Given the description of an element on the screen output the (x, y) to click on. 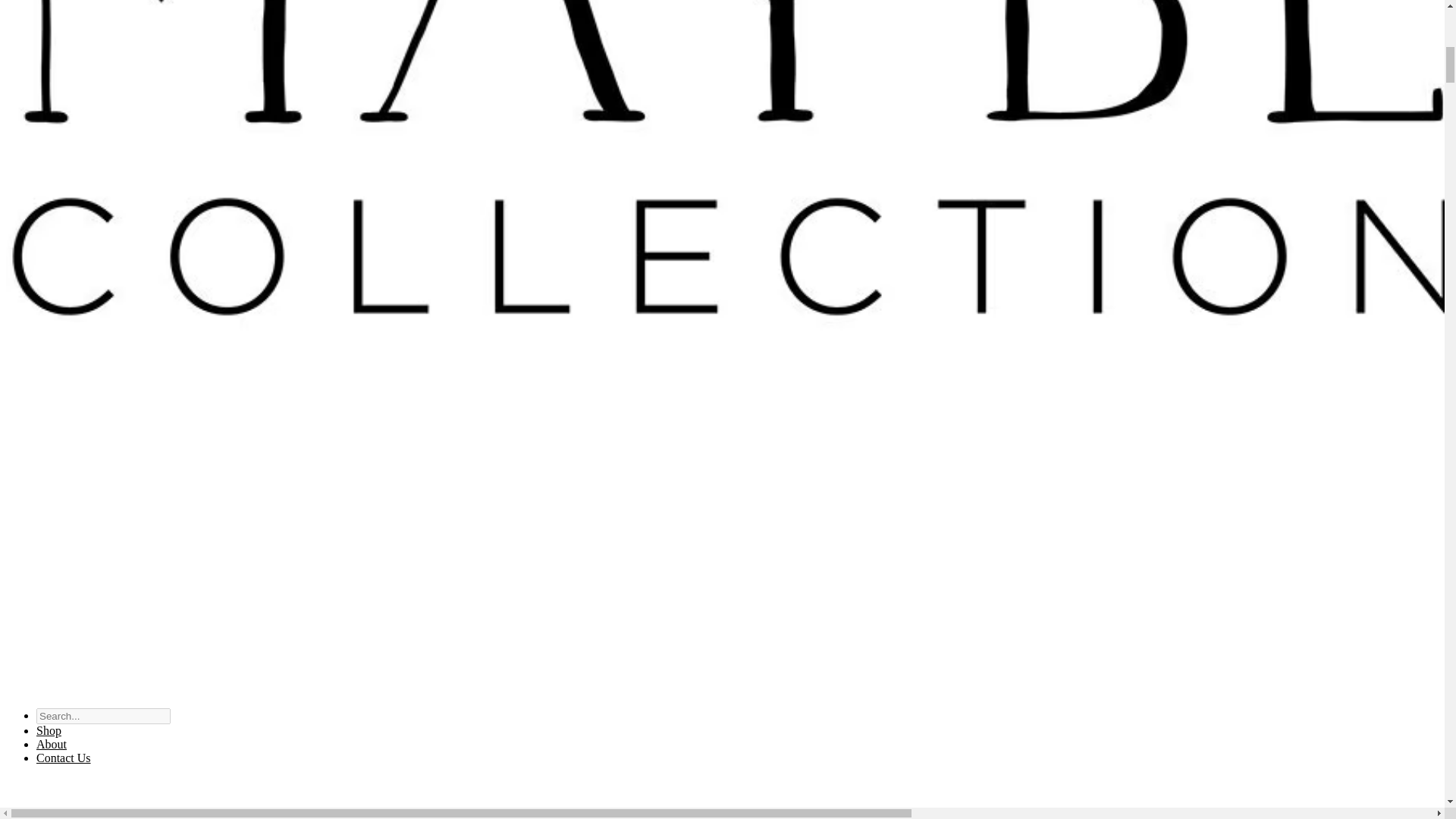
About (51, 744)
Contact Us (63, 757)
Shop (48, 730)
Home (721, 799)
